Given the description of an element on the screen output the (x, y) to click on. 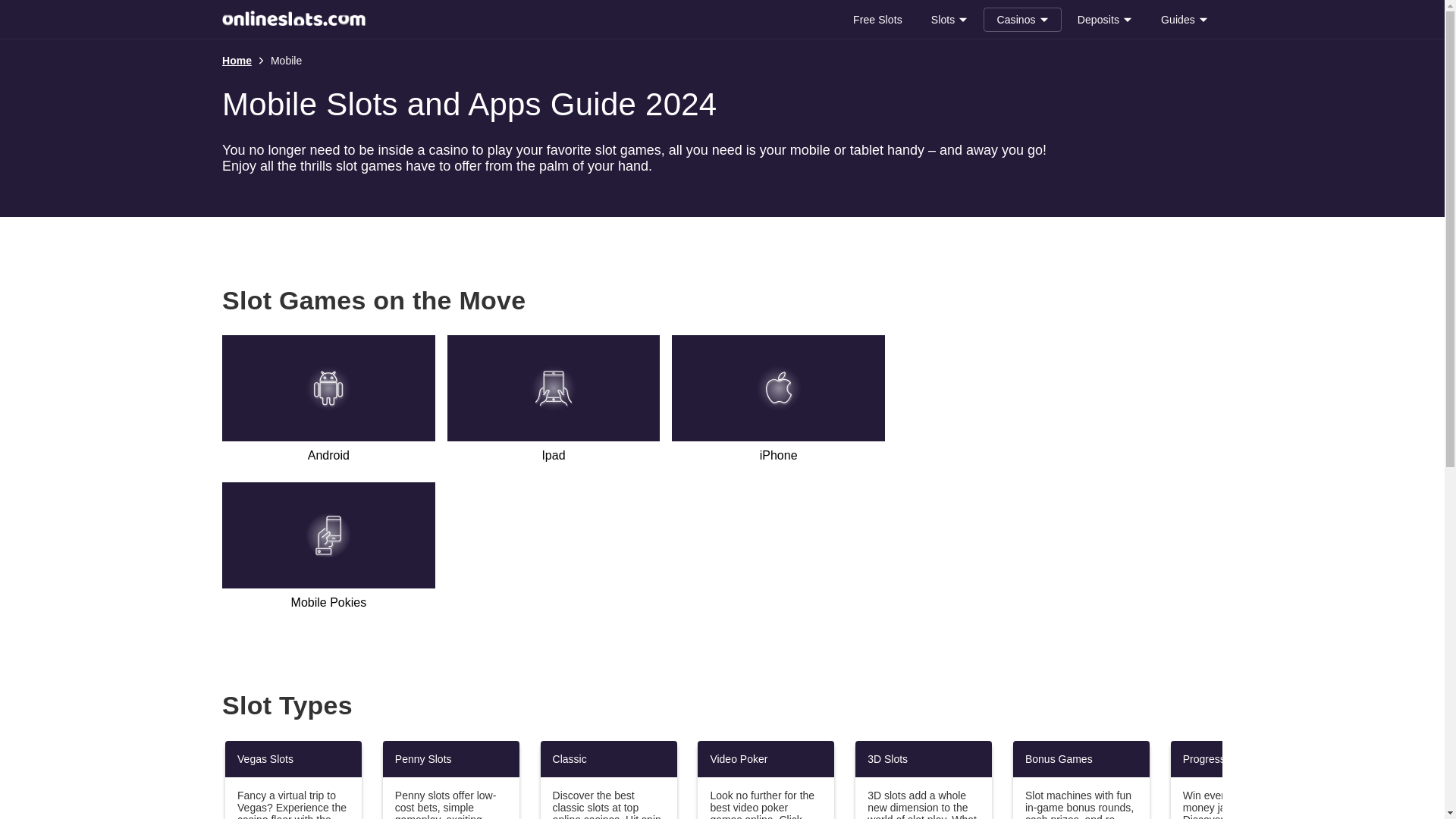
Android (328, 402)
Ipad (553, 402)
iPhone (778, 402)
Mobile Pokies (328, 549)
